Given the description of an element on the screen output the (x, y) to click on. 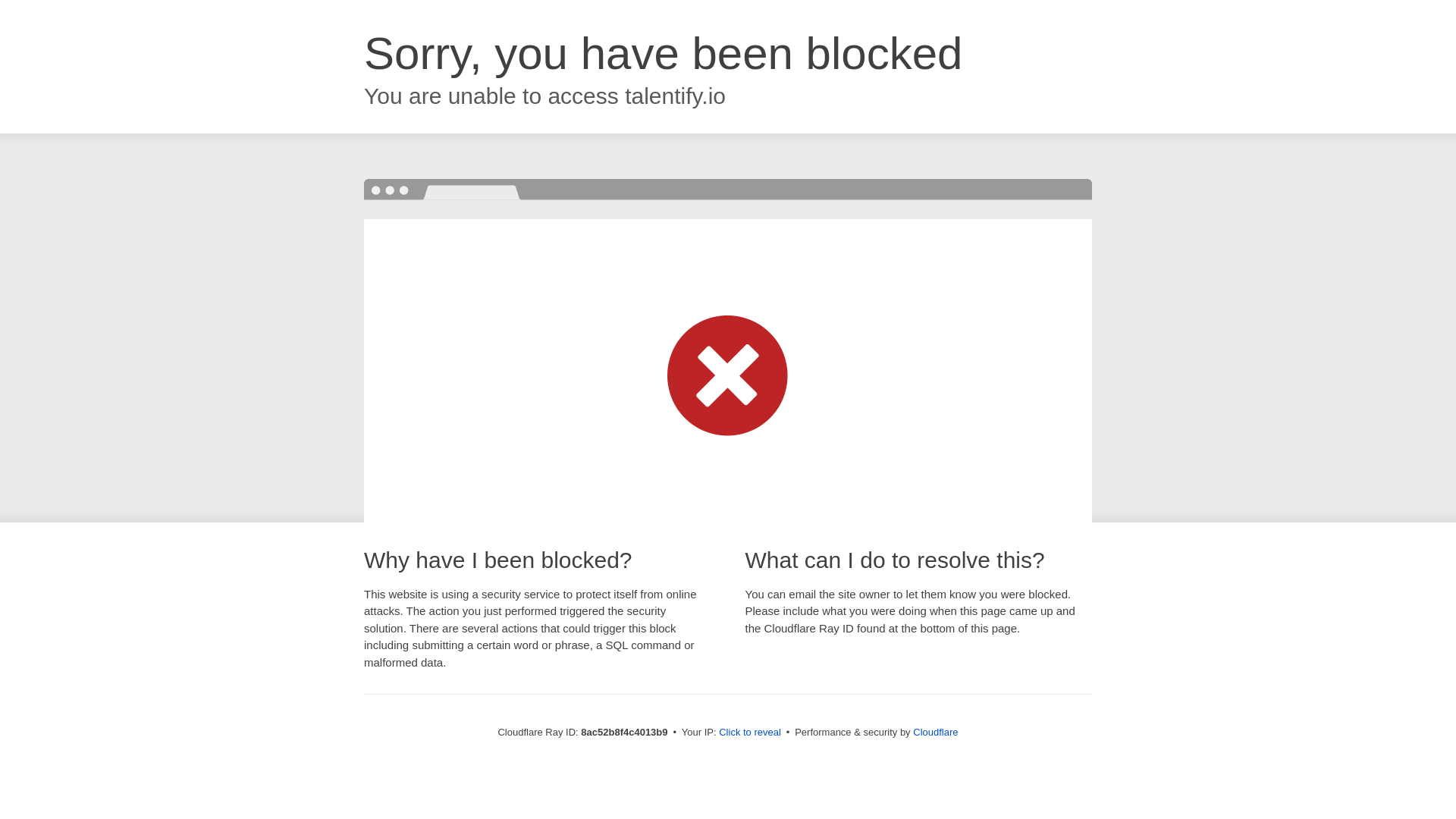
Cloudflare (935, 731)
Click to reveal (749, 732)
